Given the description of an element on the screen output the (x, y) to click on. 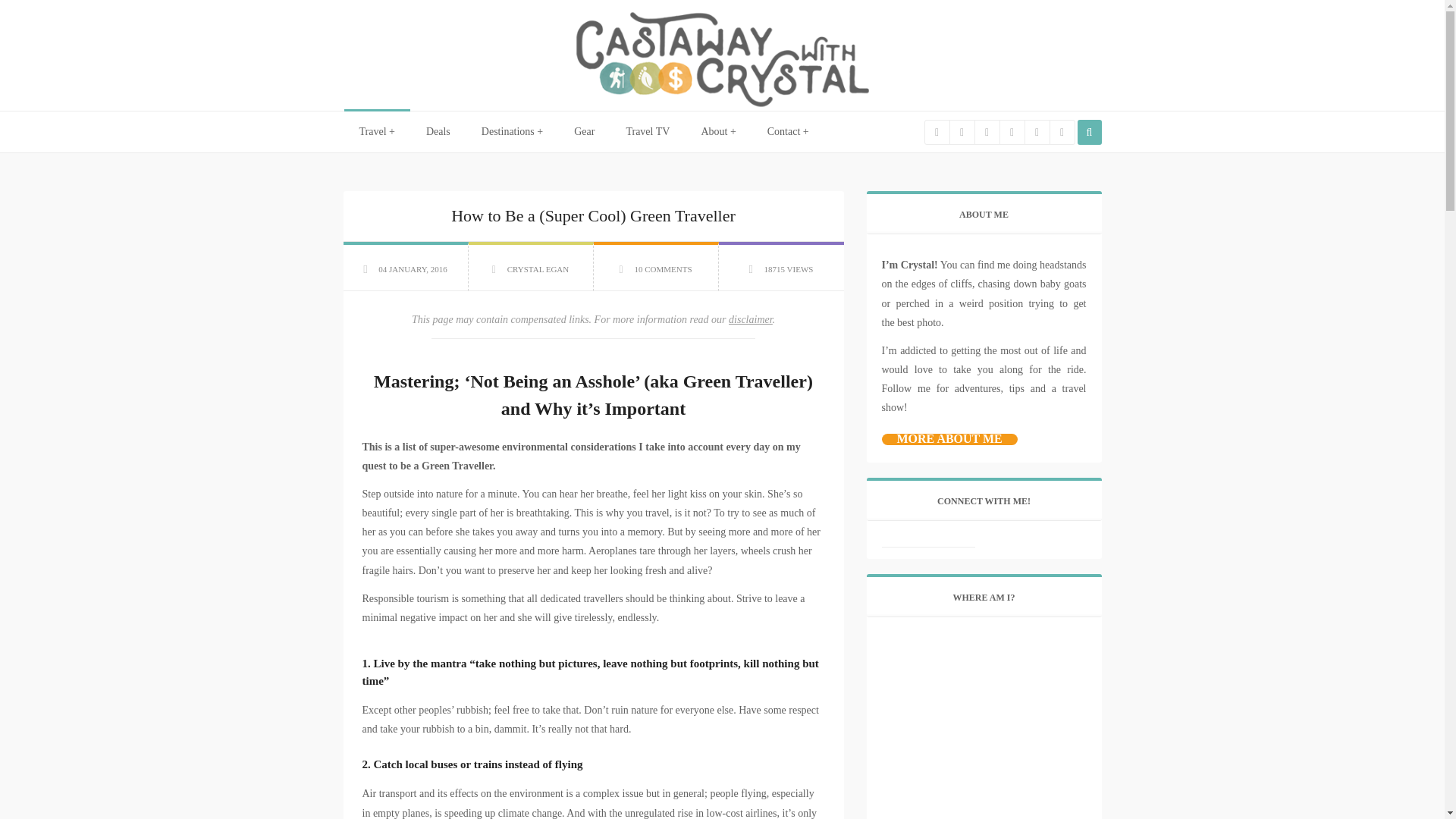
Castaway with Crystal (721, 57)
Travel TV (647, 132)
CRYSTAL EGAN (537, 268)
disclaimer (751, 319)
10 COMMENTS (662, 268)
04 JANUARY, 2016 (412, 268)
